Given the description of an element on the screen output the (x, y) to click on. 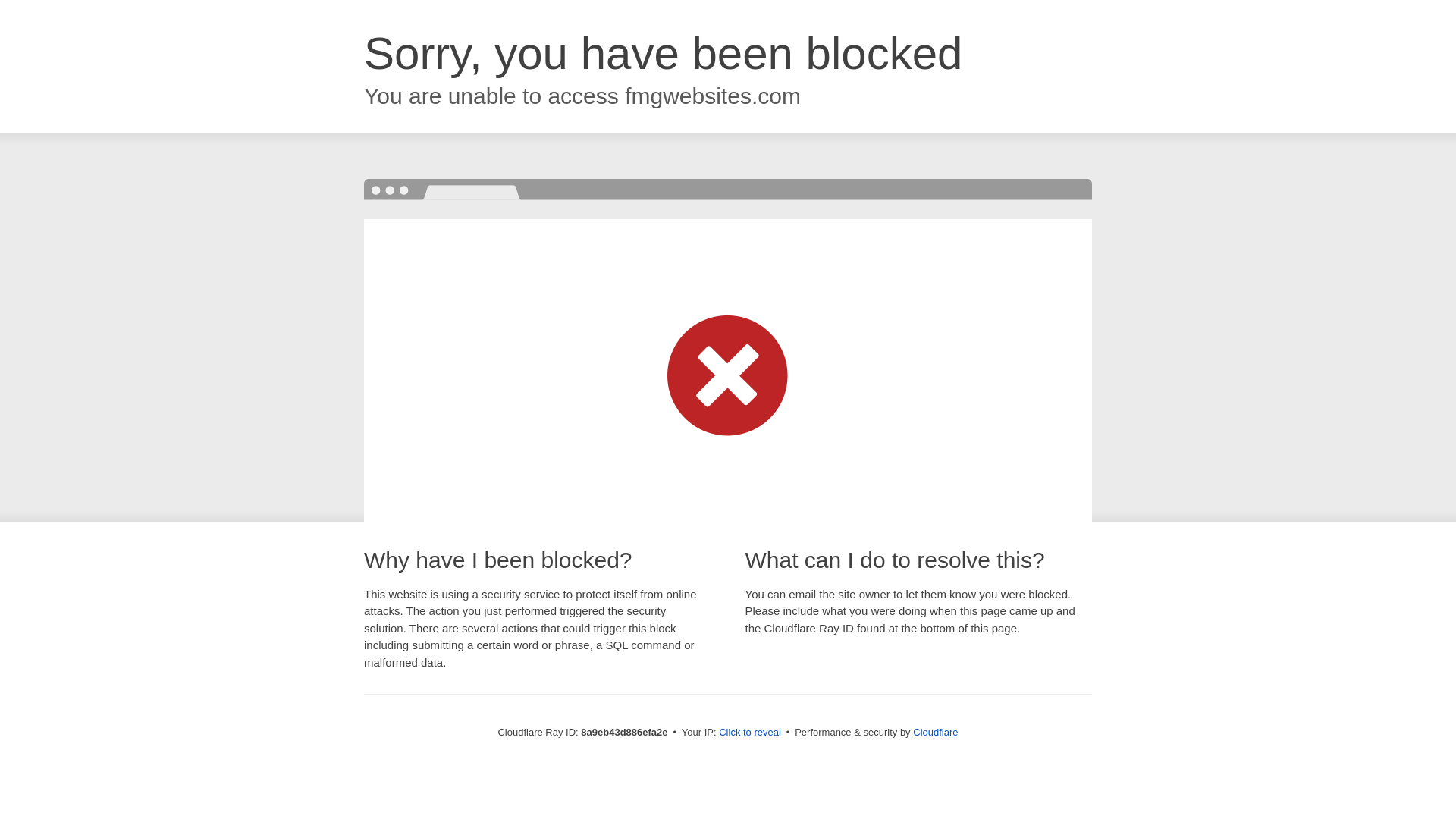
Click to reveal (749, 732)
Cloudflare (935, 731)
